Given the description of an element on the screen output the (x, y) to click on. 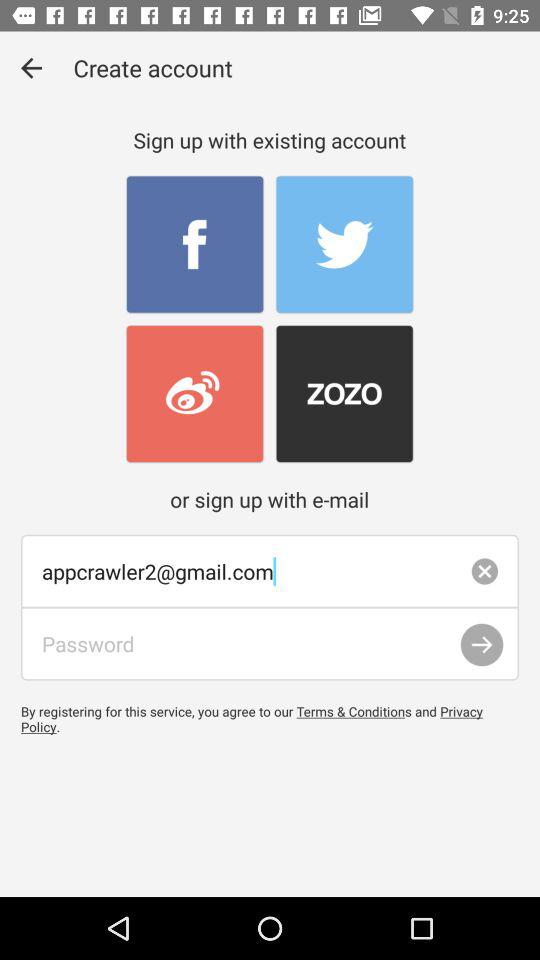
flip to the by registering for item (270, 718)
